Given the description of an element on the screen output the (x, y) to click on. 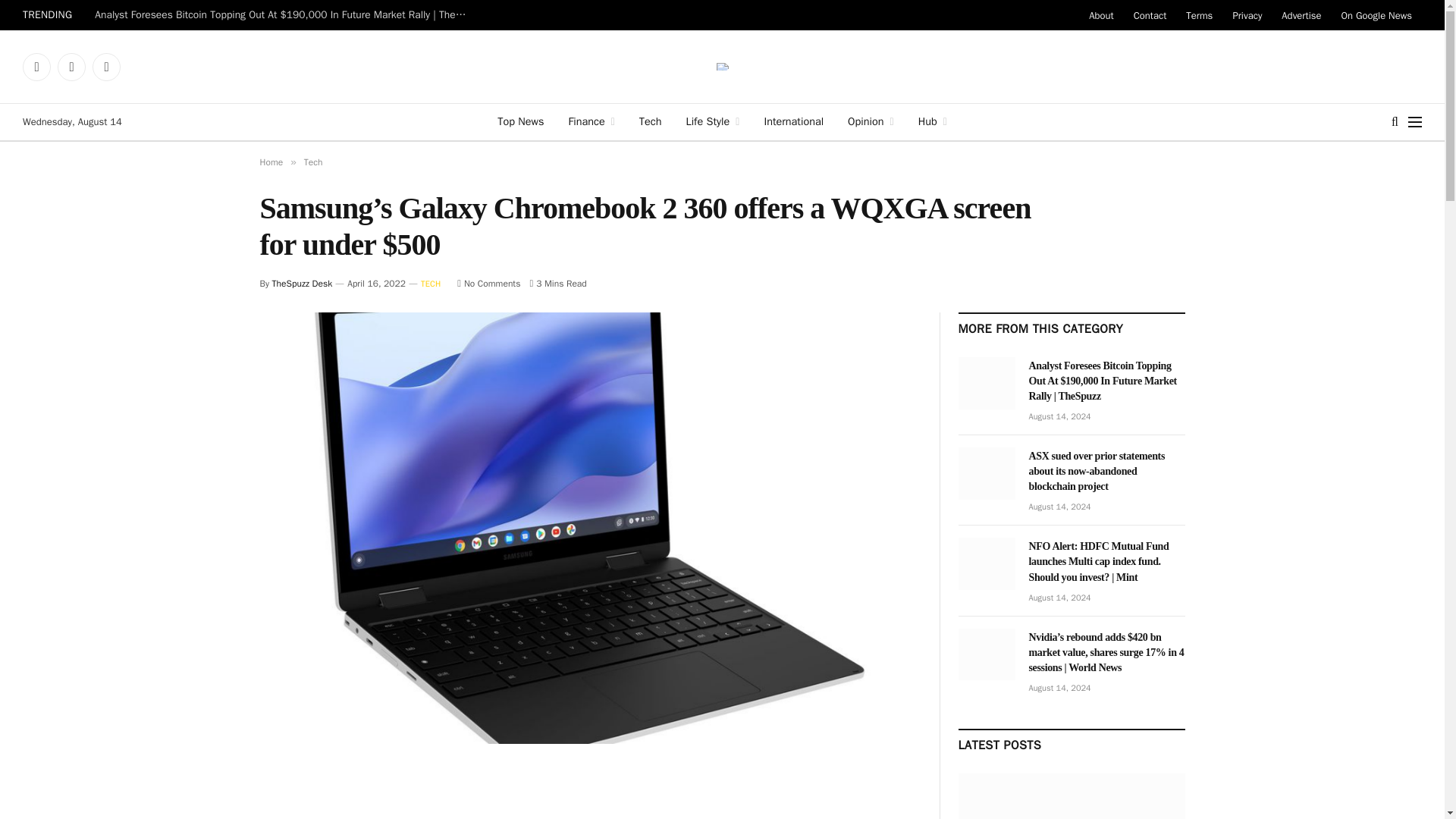
Privacy (1247, 15)
Pinterest (106, 67)
Contact (1150, 15)
Top News (520, 122)
Advertise (1300, 15)
On Google News (1377, 15)
Terms (1199, 15)
Facebook (36, 67)
About (1100, 15)
Finance (591, 122)
